Given the description of an element on the screen output the (x, y) to click on. 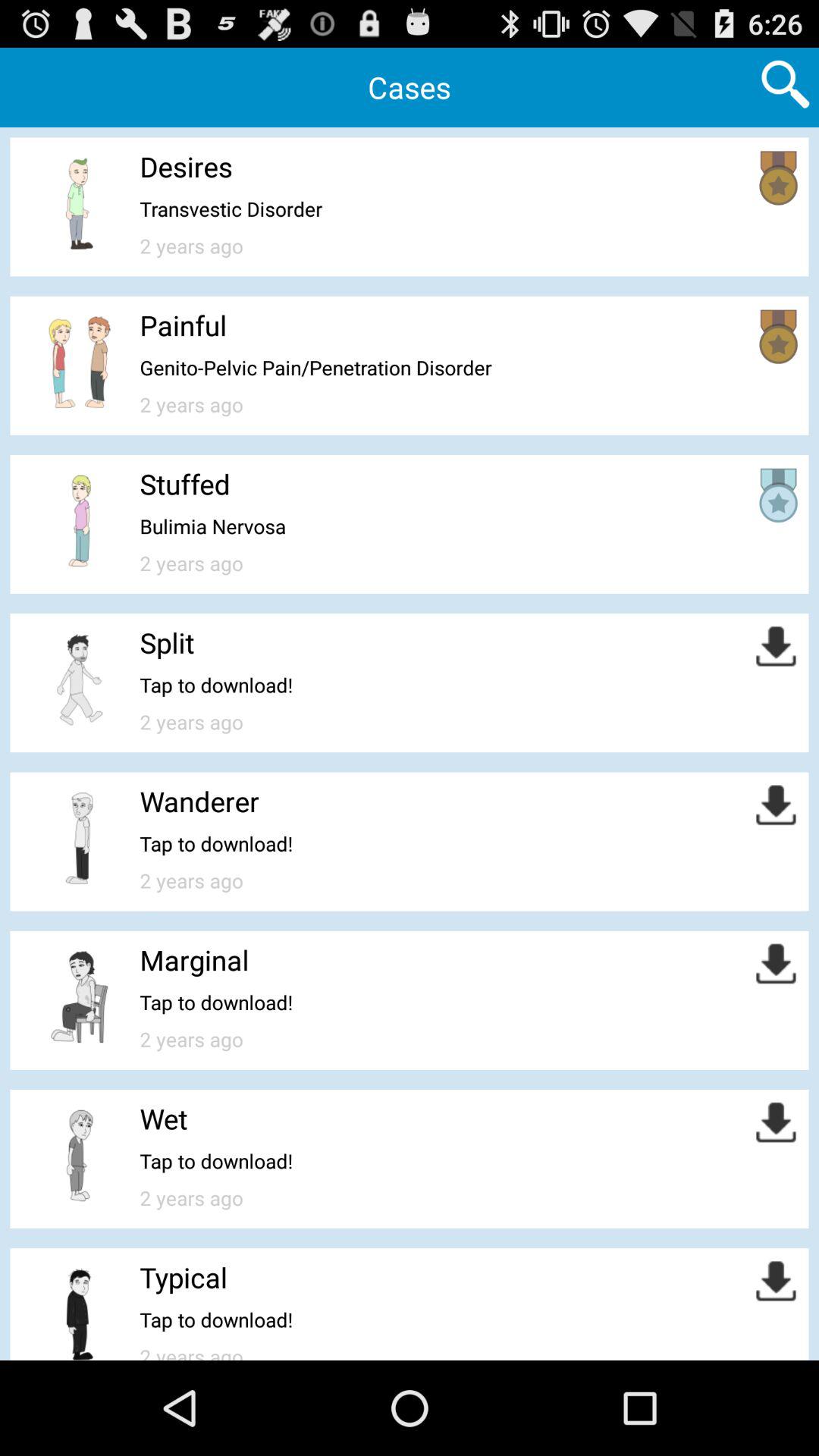
tap the icon above 2 years ago icon (212, 526)
